Given the description of an element on the screen output the (x, y) to click on. 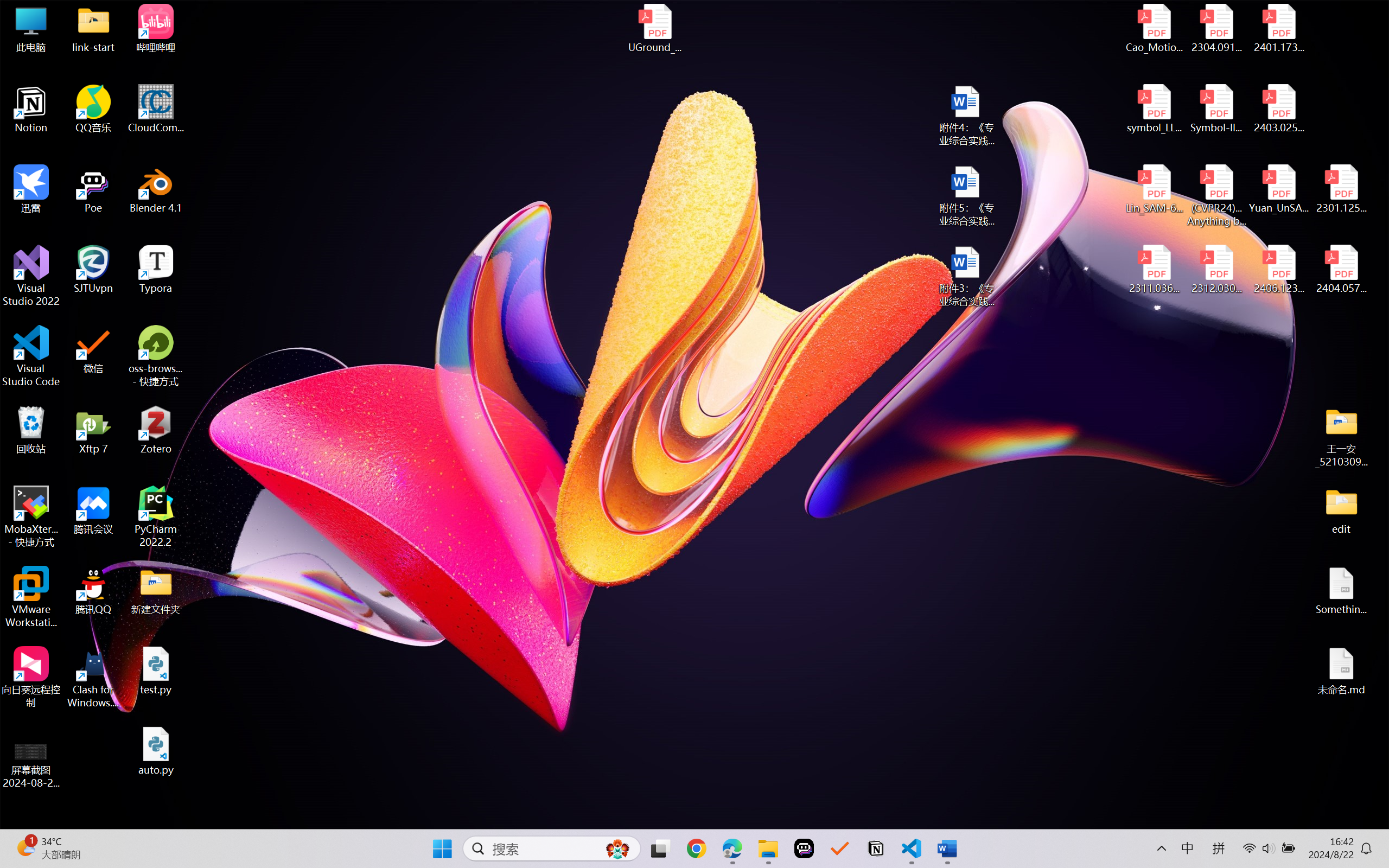
Xftp 7 (93, 430)
edit (1340, 510)
Something.md (1340, 591)
Typora (156, 269)
Google Chrome (696, 848)
2401.17399v1.pdf (1278, 28)
